Given the description of an element on the screen output the (x, y) to click on. 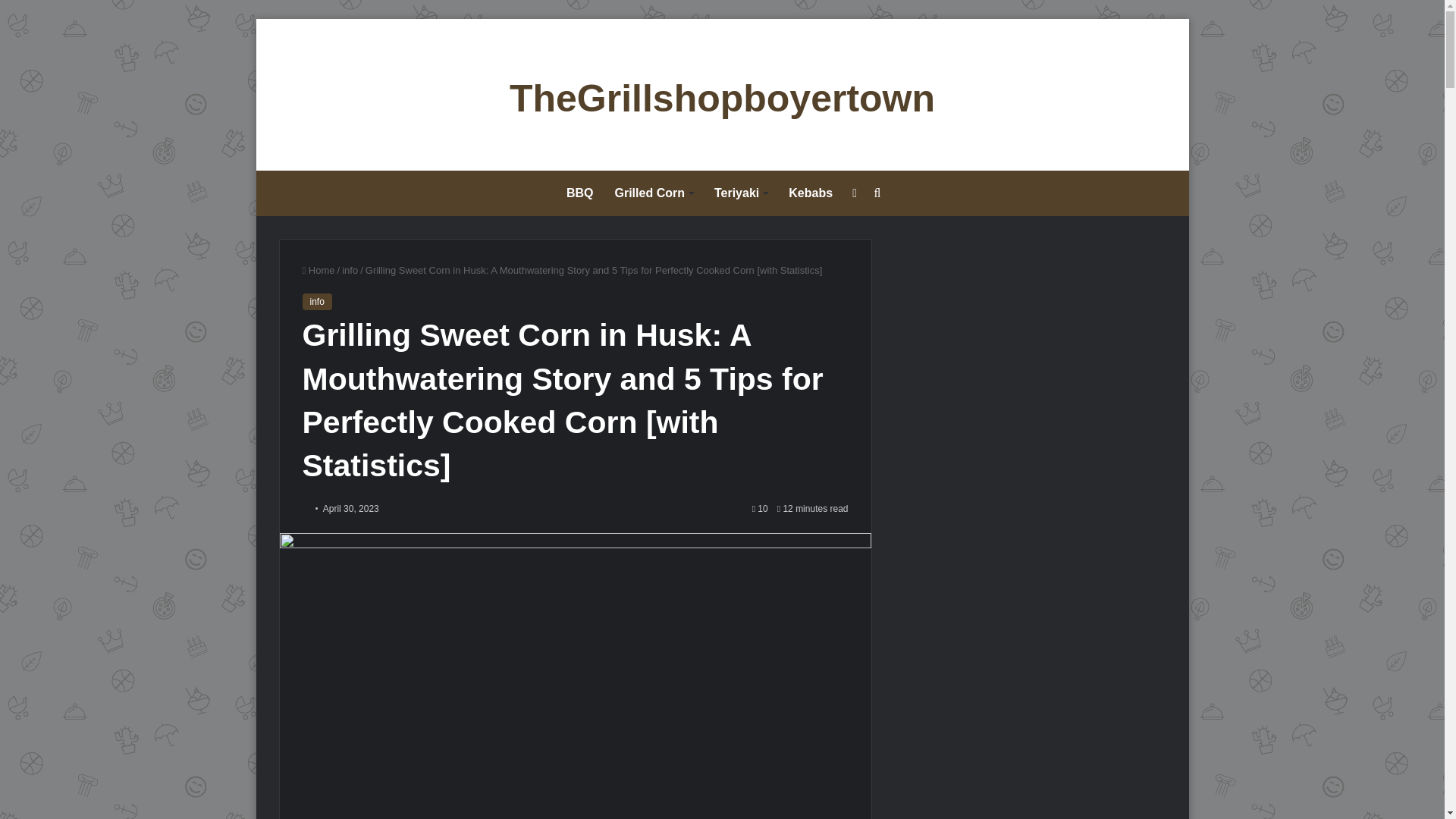
Kebabs (810, 193)
TheGrillshopboyertown (721, 98)
Grilled Corn (653, 193)
Teriyaki (740, 193)
TheGrillshopboyertown (721, 98)
info (316, 301)
info (350, 270)
Home (317, 270)
BBQ (580, 193)
